Given the description of an element on the screen output the (x, y) to click on. 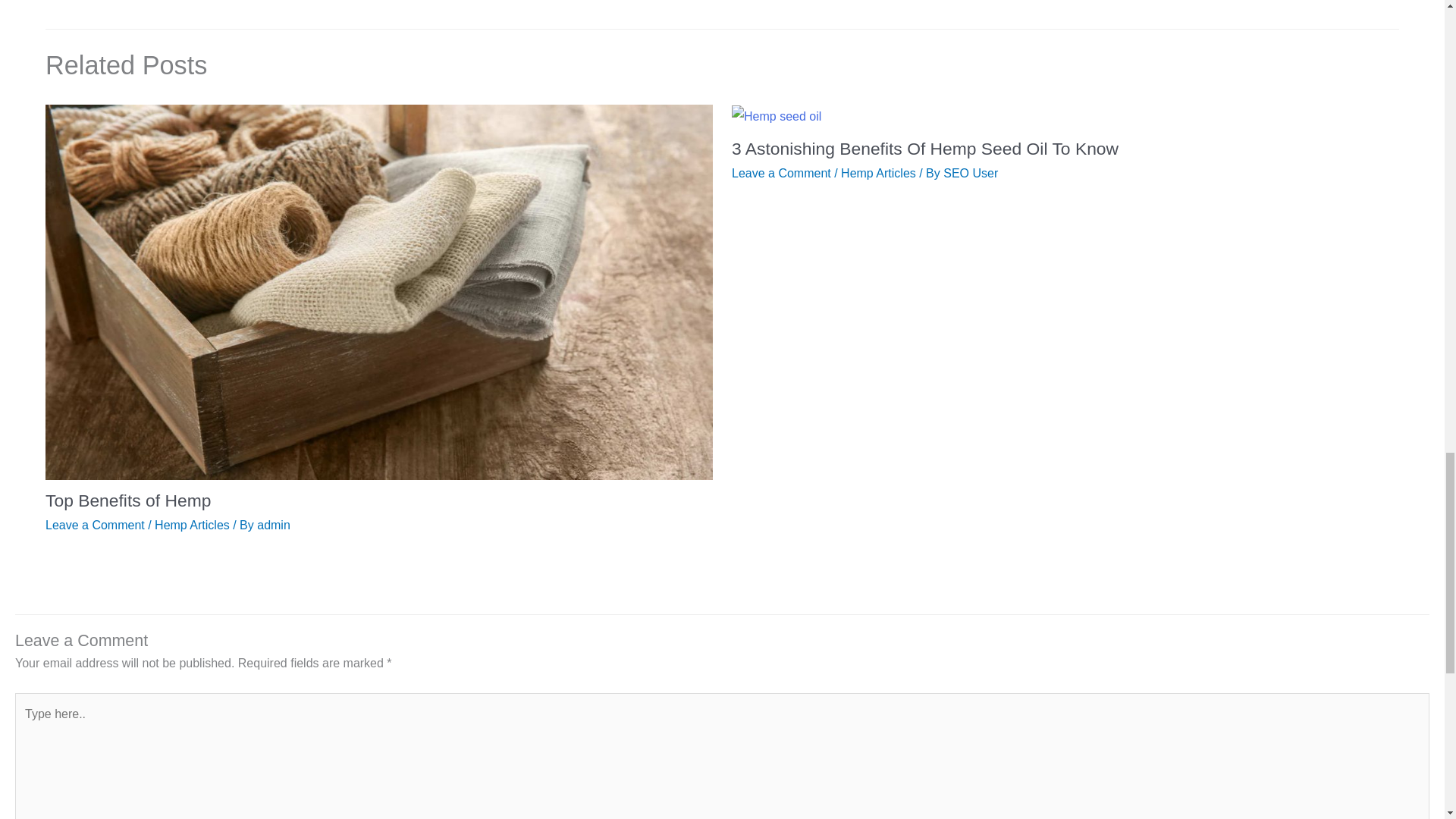
admin (273, 524)
Hemp Articles (878, 173)
View all posts by SEO User (970, 173)
SEO User (970, 173)
3 Astonishing Benefits Of Hemp Seed Oil To Know (925, 148)
Hemp Articles (192, 524)
Leave a Comment (781, 173)
Top Benefits of Hemp (128, 500)
View all posts by admin (273, 524)
Leave a Comment (94, 524)
